Given the description of an element on the screen output the (x, y) to click on. 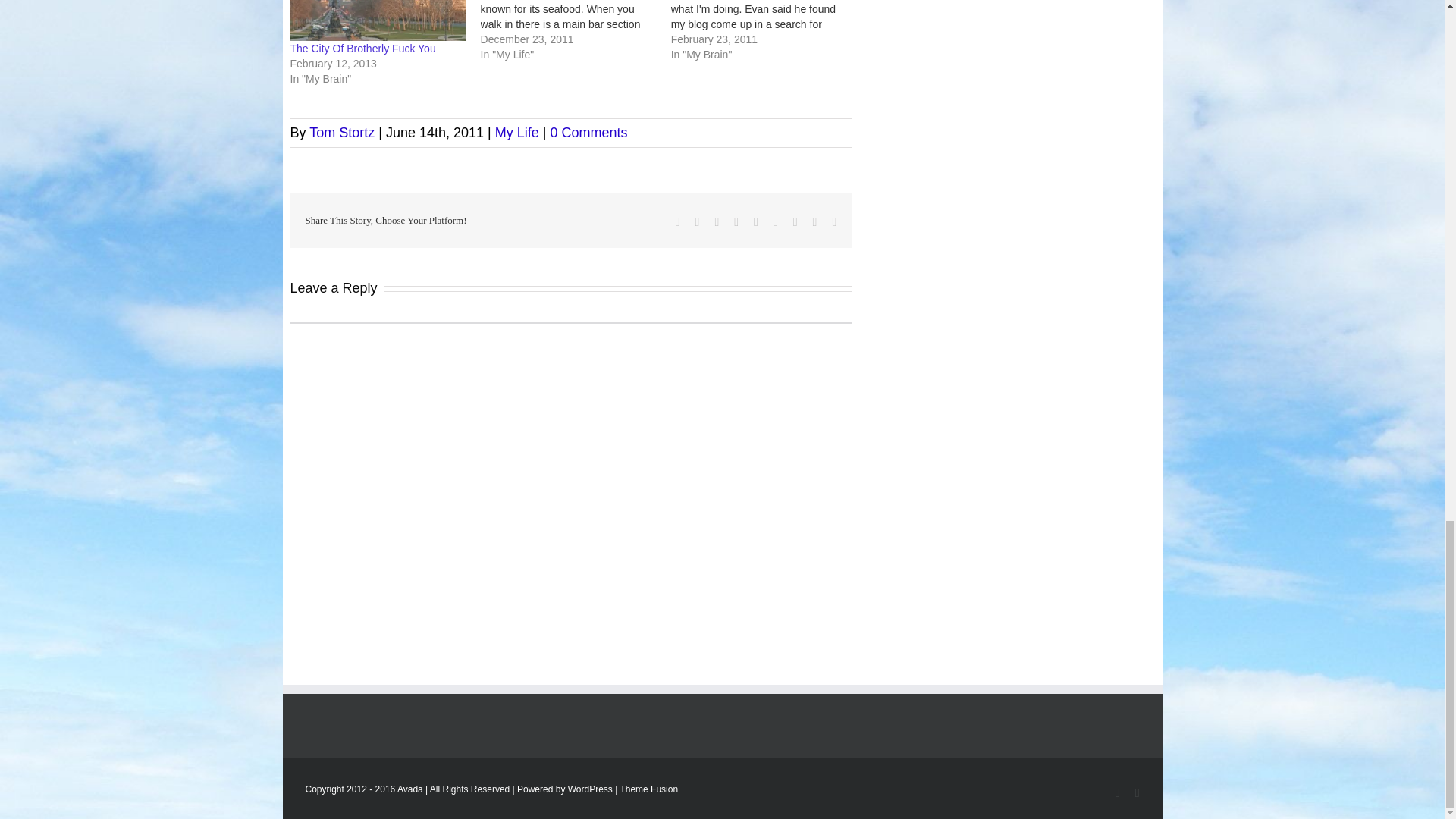
0 Comments (588, 132)
My Life (516, 132)
Tom Stortz (341, 132)
The City Of Brotherly Fuck You (362, 48)
